Given the description of an element on the screen output the (x, y) to click on. 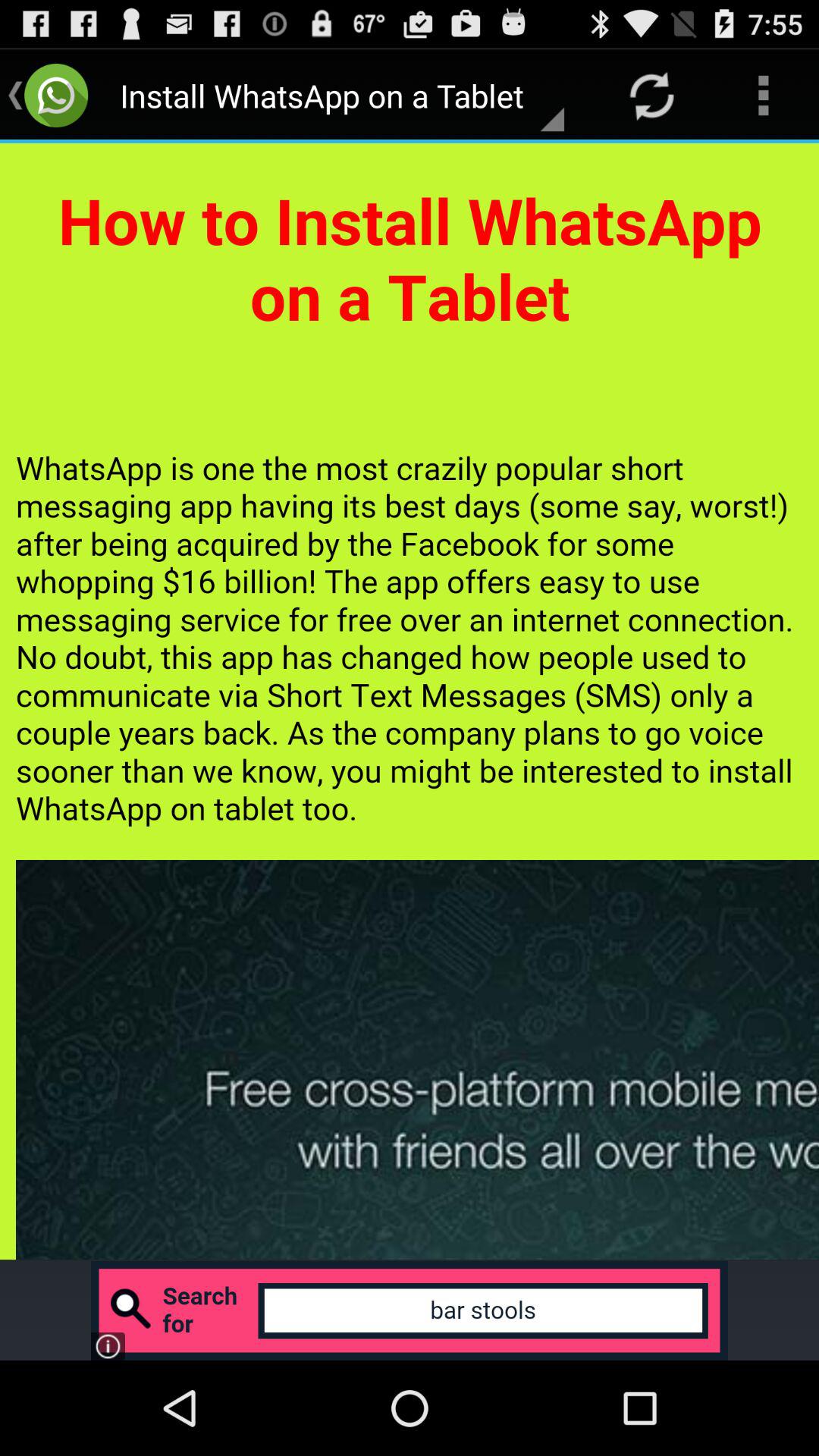
instructions (409, 701)
